Given the description of an element on the screen output the (x, y) to click on. 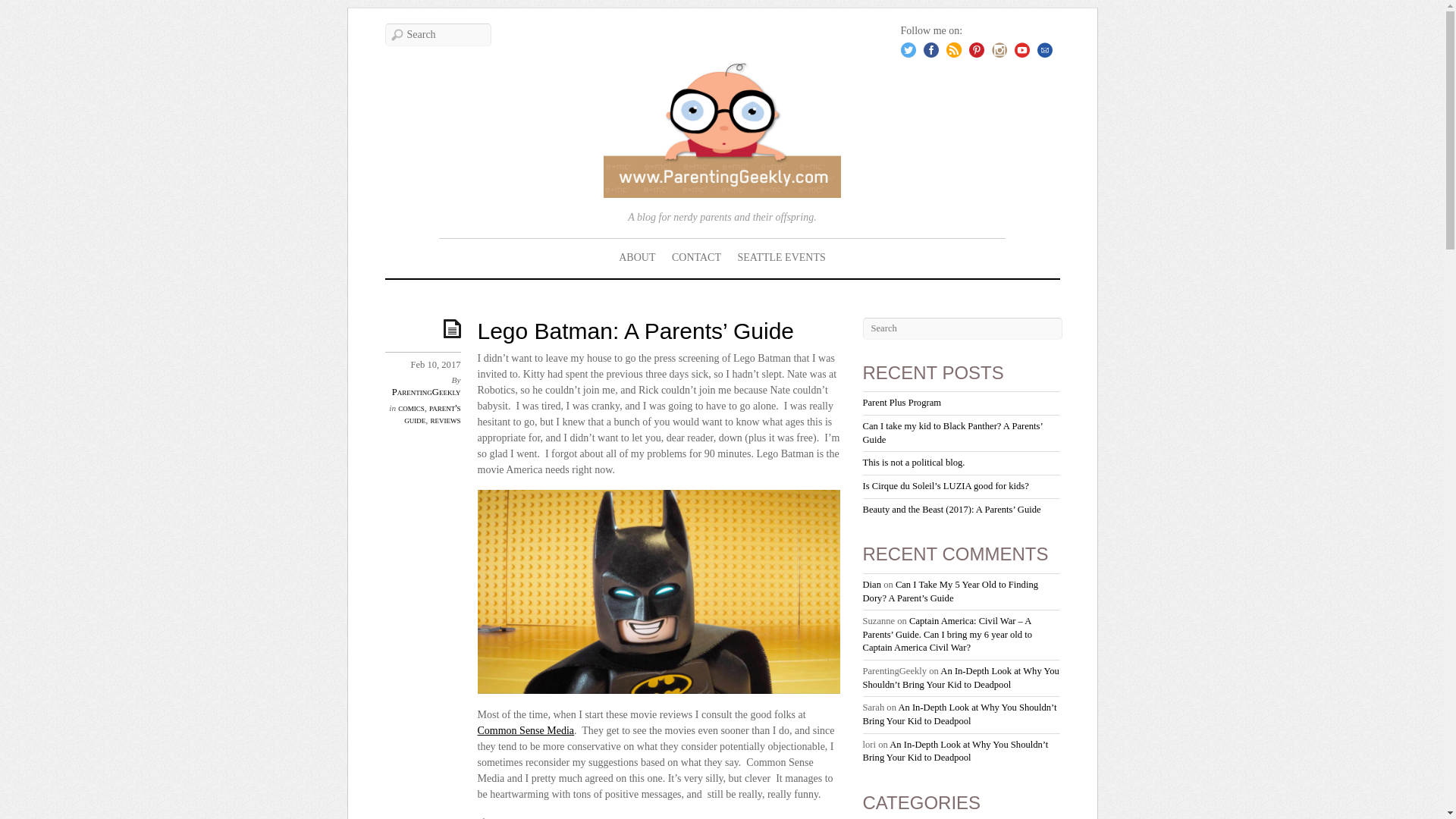
A blog for nerdy parents and their offpring. (722, 129)
SEATTLE EVENTS (780, 257)
A blog for nerdy parents and their offpring. (722, 183)
comics (411, 407)
Dian (871, 584)
Parent Plus Program (902, 402)
parent's guide (432, 413)
This is not a political blog. (914, 462)
ABOUT (636, 257)
Common Sense Media (526, 730)
